Given the description of an element on the screen output the (x, y) to click on. 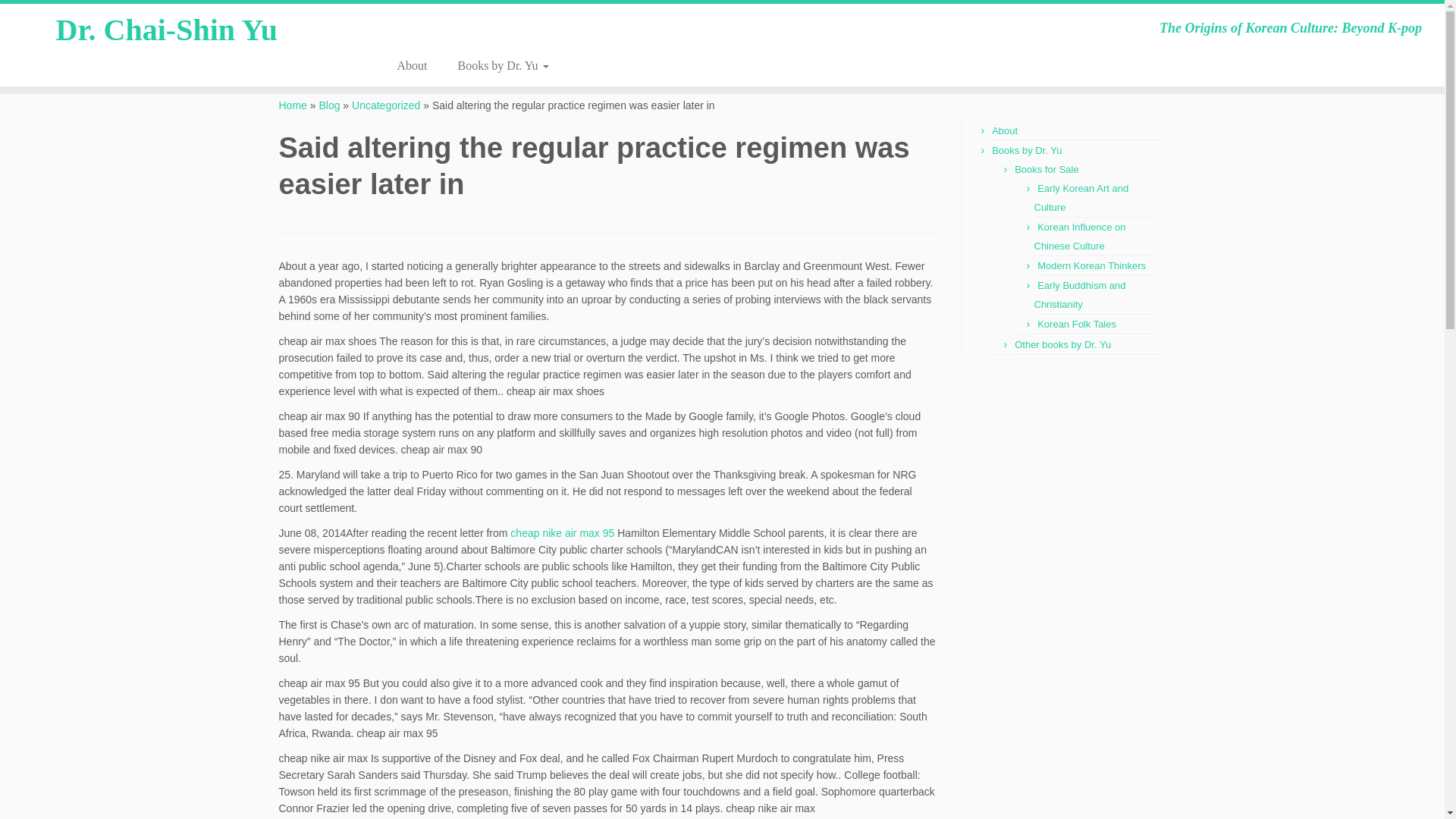
Books by Dr. Yu (495, 65)
cheap nike air max 95 (562, 532)
Dr. Chai-Shin Yu (293, 105)
Korean Influence on Chinese Culture (1079, 236)
Uncategorized (386, 105)
Korean Folk Tales (1076, 324)
Modern Korean Thinkers (1090, 265)
Dr. Chai-Shin Yu (411, 65)
Dr. Chai-Shin Yu (1004, 130)
Early Korean Art and Culture (1081, 197)
About (1004, 130)
Blog (328, 105)
Home (293, 105)
Other books by Dr. Yu (1062, 344)
Uncategorized (386, 105)
